Given the description of an element on the screen output the (x, y) to click on. 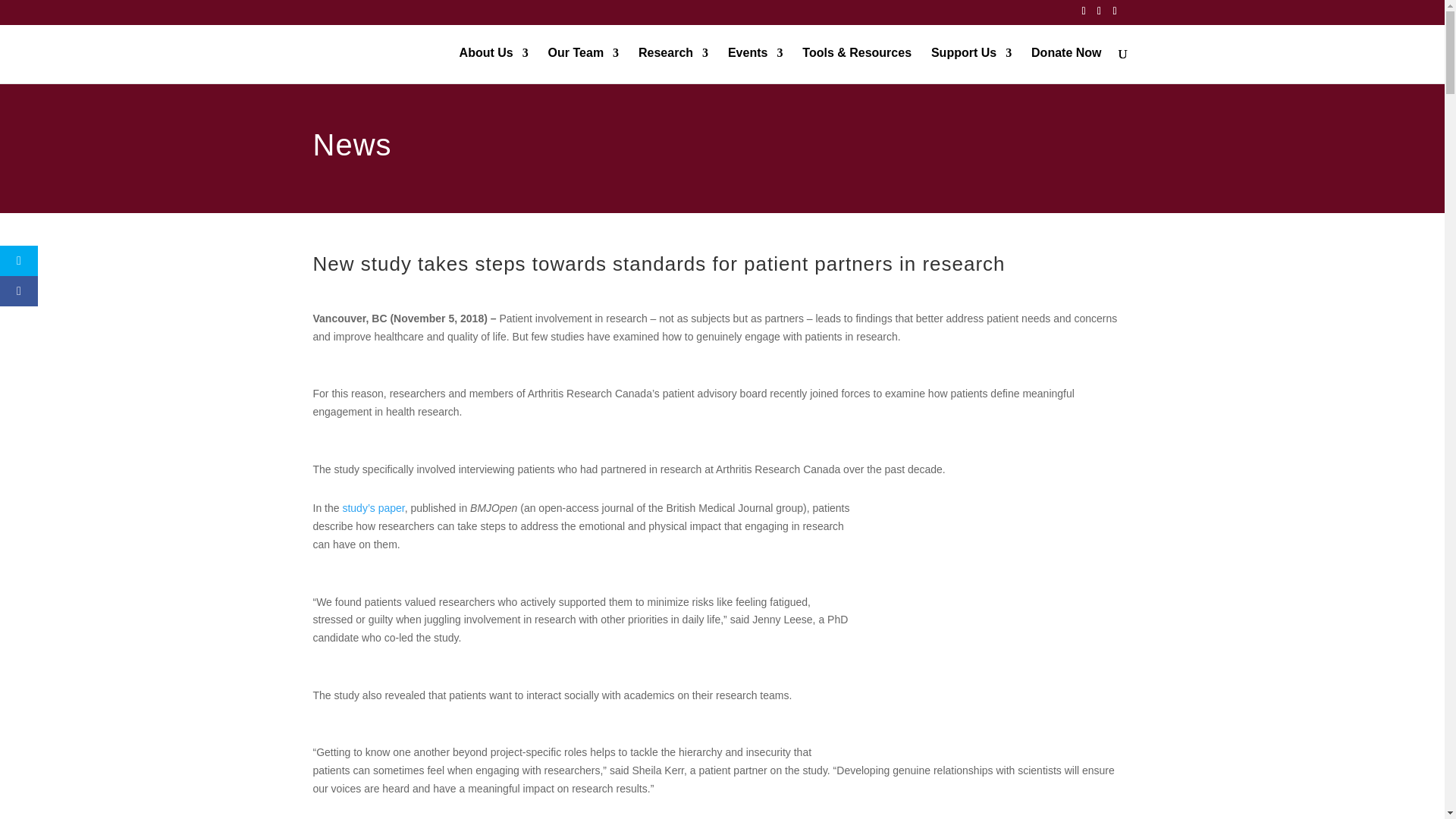
About Us (494, 65)
Research (673, 65)
Our Team (584, 65)
